Given the description of an element on the screen output the (x, y) to click on. 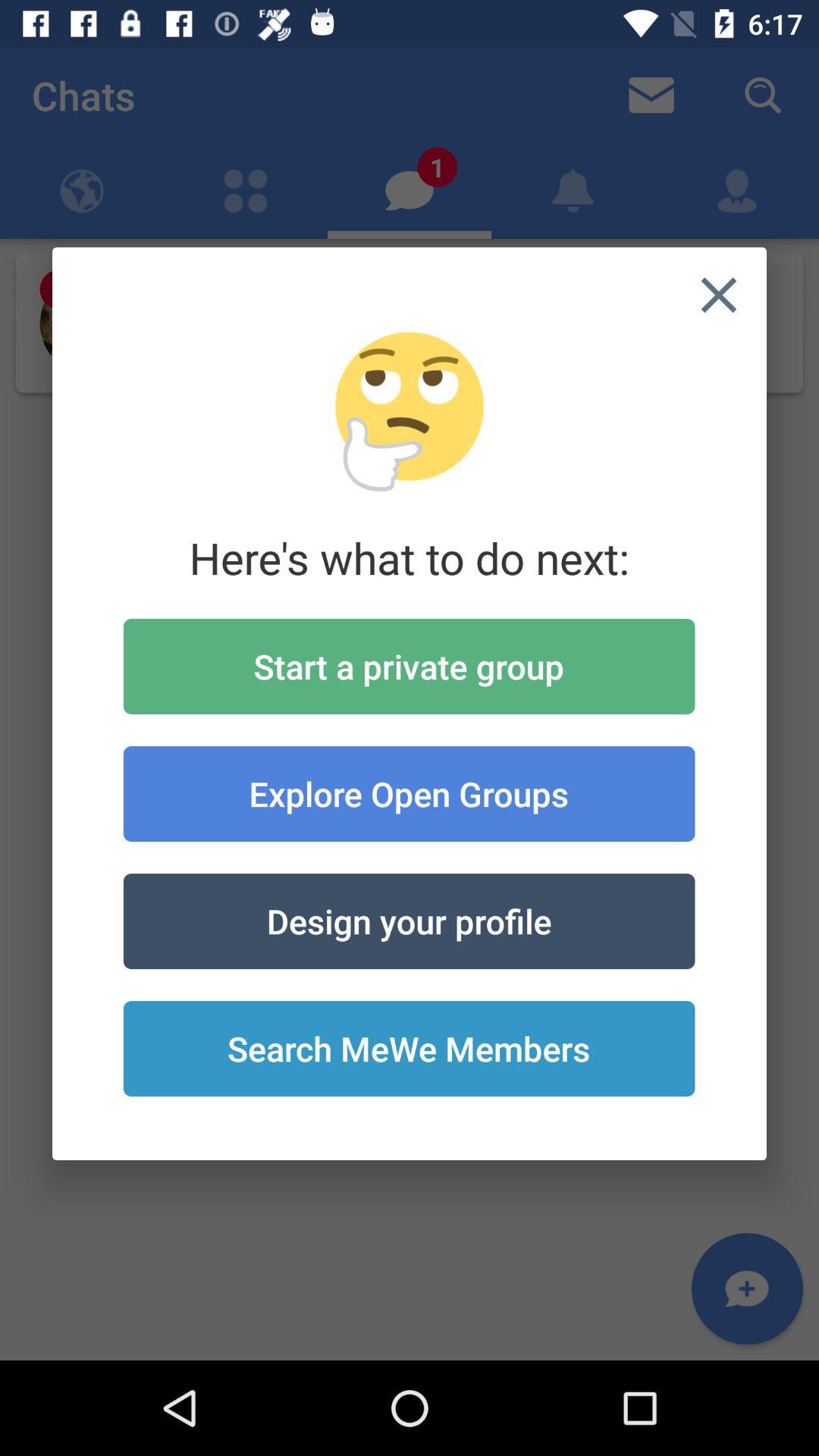
open explore open groups item (409, 793)
